Given the description of an element on the screen output the (x, y) to click on. 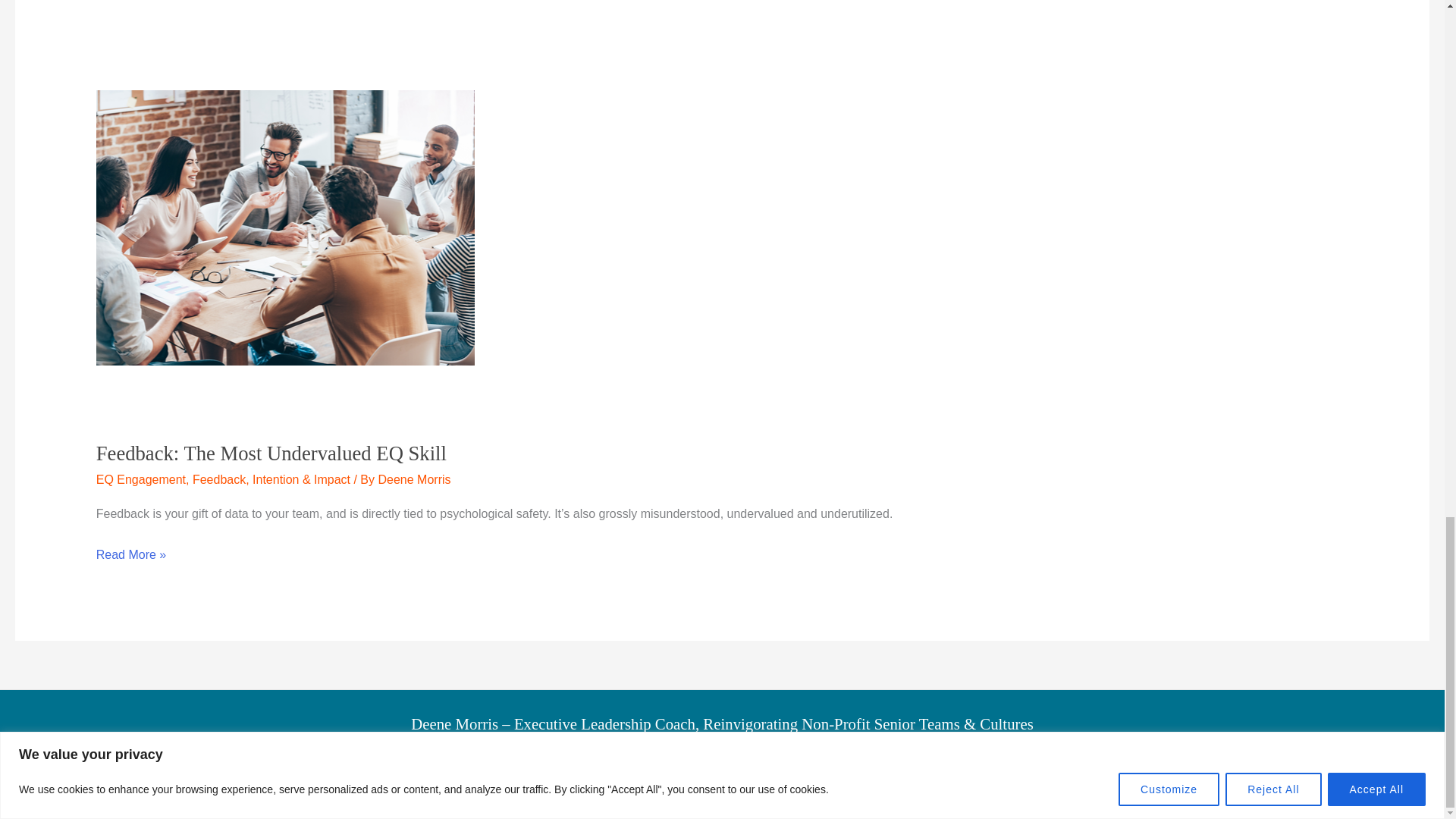
View all posts by Deene Morris (413, 479)
